Given the description of an element on the screen output the (x, y) to click on. 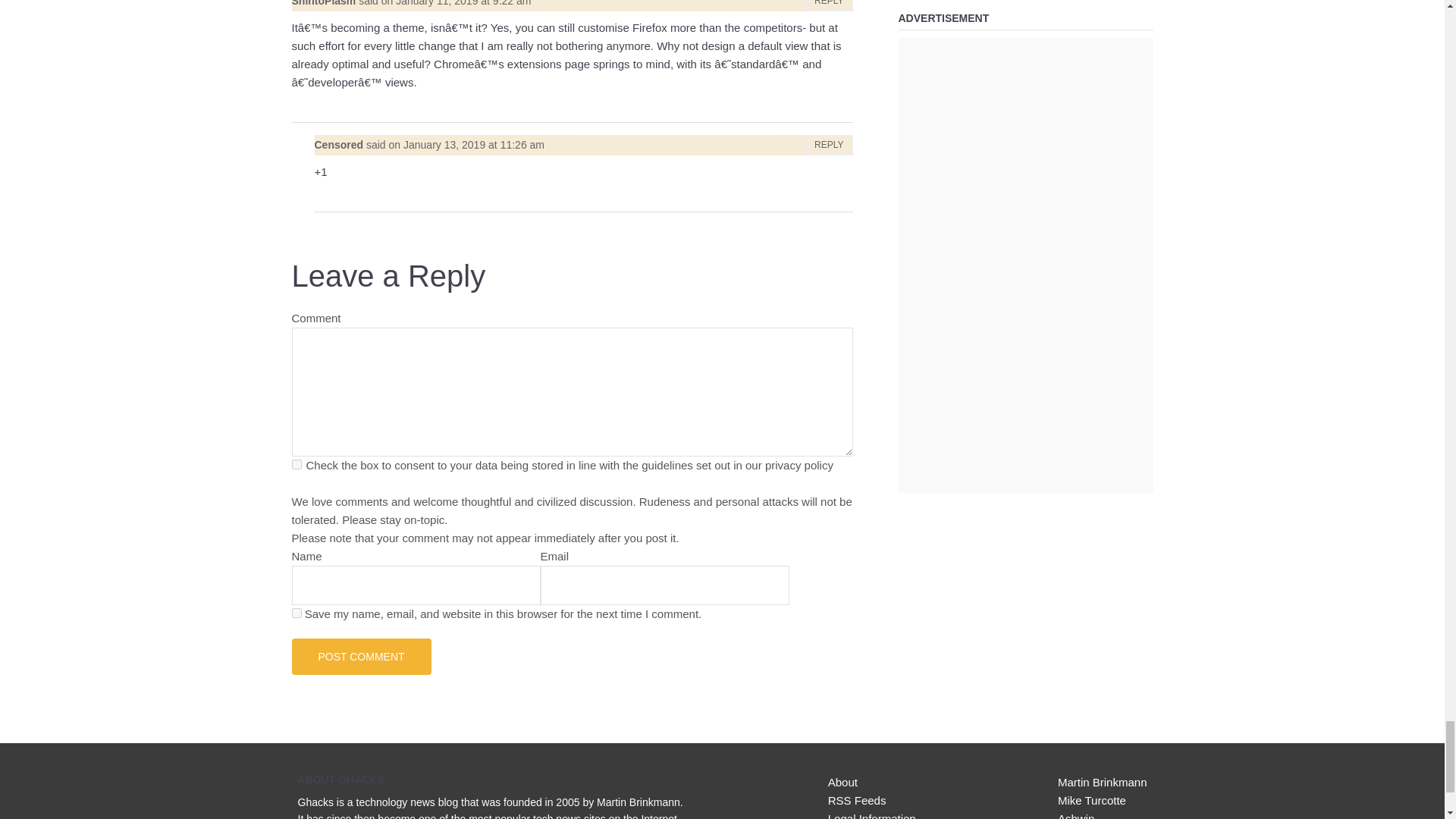
privacy-key (296, 464)
yes (296, 613)
Post Comment (360, 656)
